Given the description of an element on the screen output the (x, y) to click on. 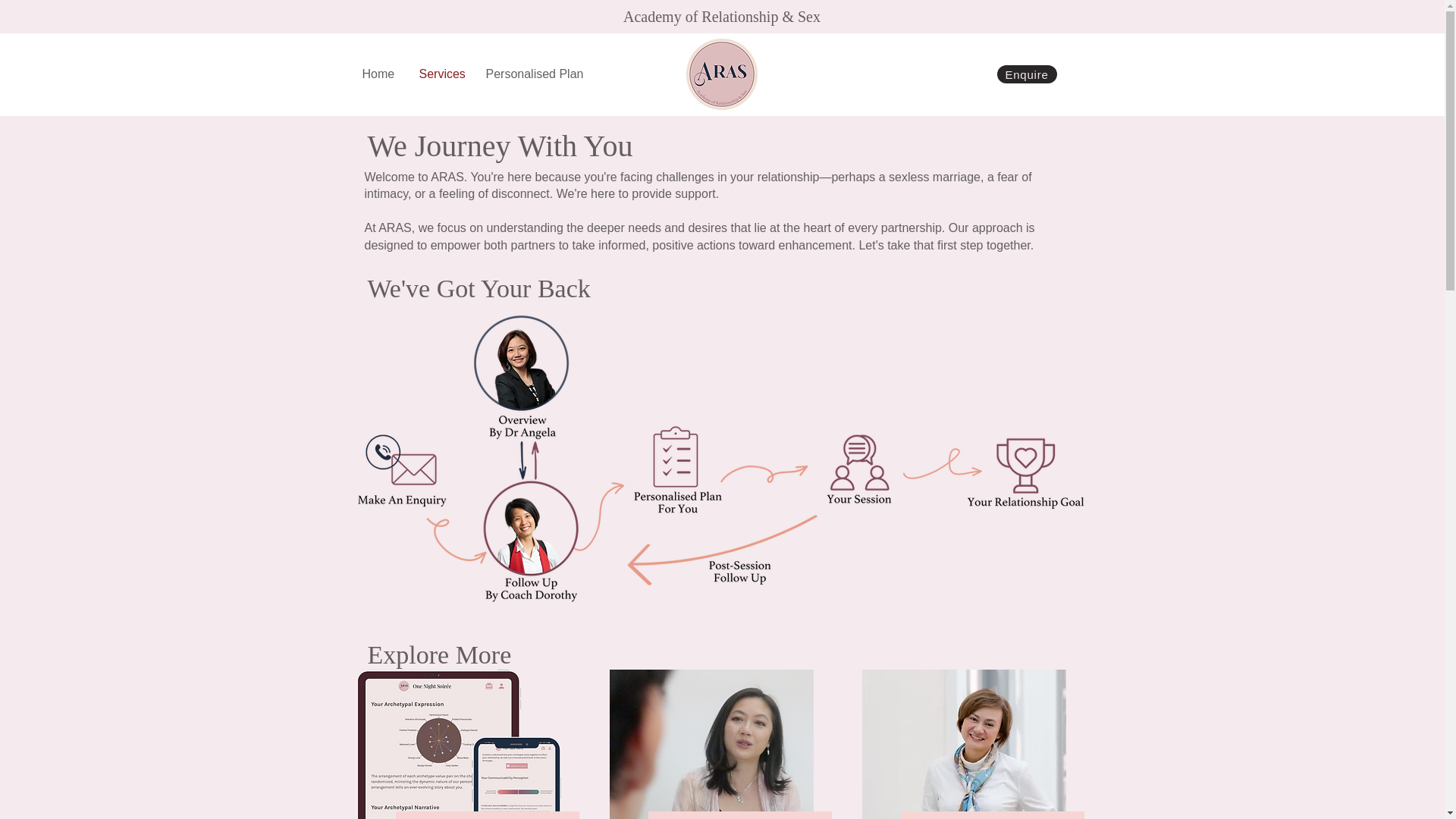
Enquire (1026, 74)
Home (378, 74)
Personalised Plan (533, 74)
Services (440, 74)
